Given the description of an element on the screen output the (x, y) to click on. 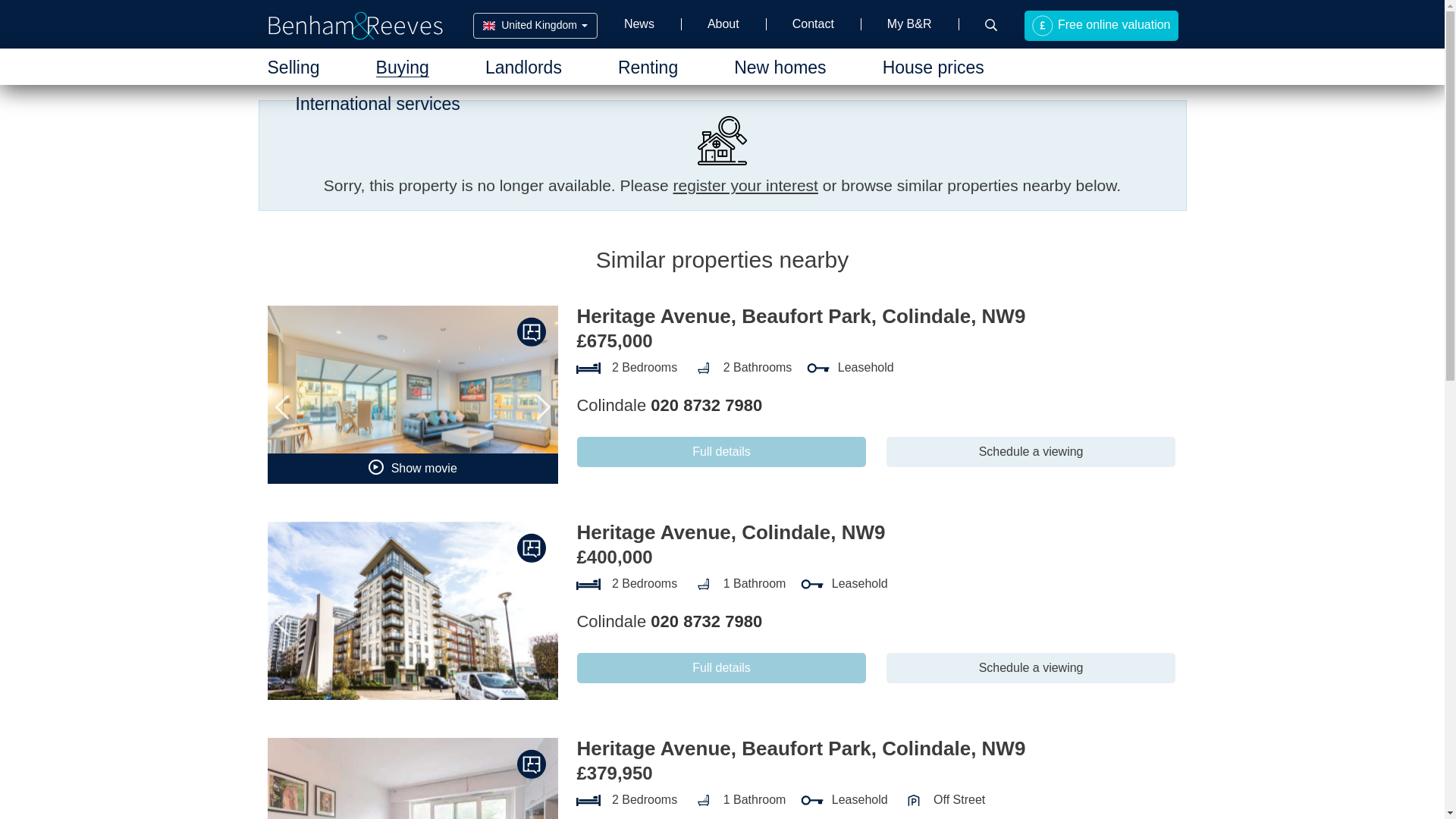
Have floor plan (531, 331)
United Kingdom (534, 25)
News (638, 23)
Have floor plan (531, 764)
Contact (813, 23)
About (723, 23)
Free online valuation (1100, 25)
Have floor plan (531, 548)
Free online valuation (1100, 25)
